Given the description of an element on the screen output the (x, y) to click on. 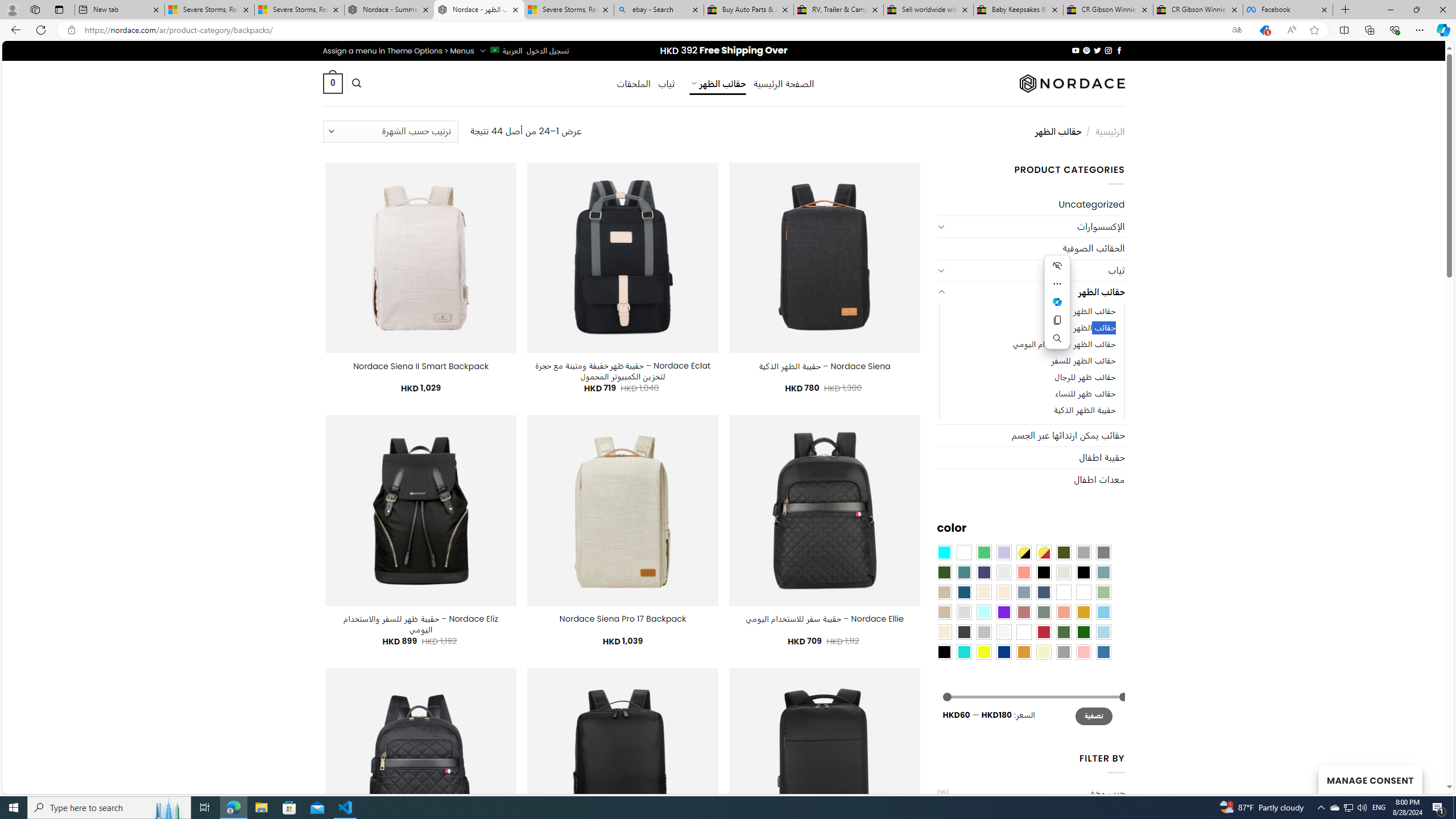
 0  (332, 83)
Follow on Facebook (1118, 50)
MANAGE CONSENT (1369, 779)
